Given the description of an element on the screen output the (x, y) to click on. 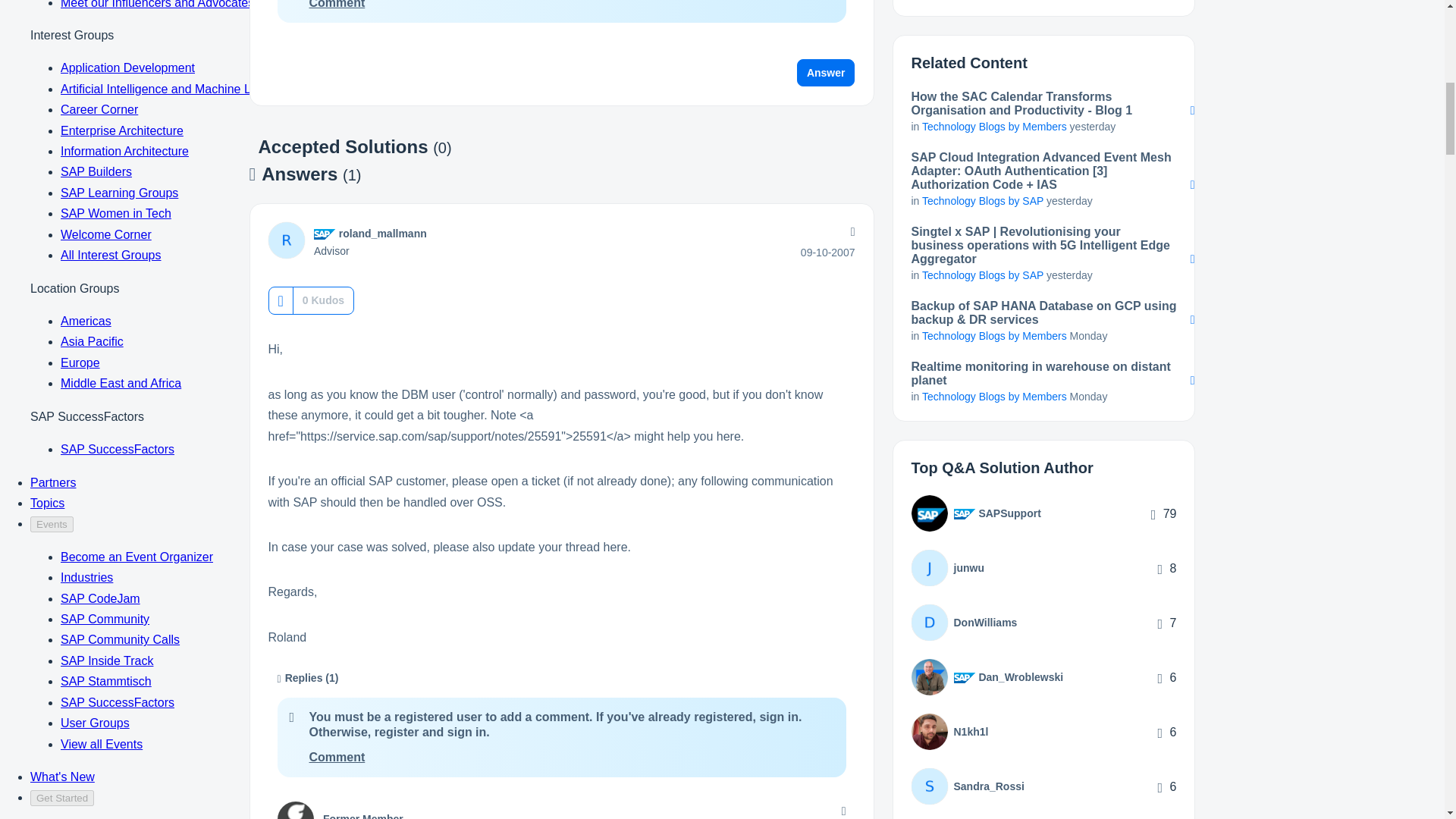
Advisor (325, 234)
Comment (336, 757)
Answer (826, 72)
Comment (336, 4)
